Given the description of an element on the screen output the (x, y) to click on. 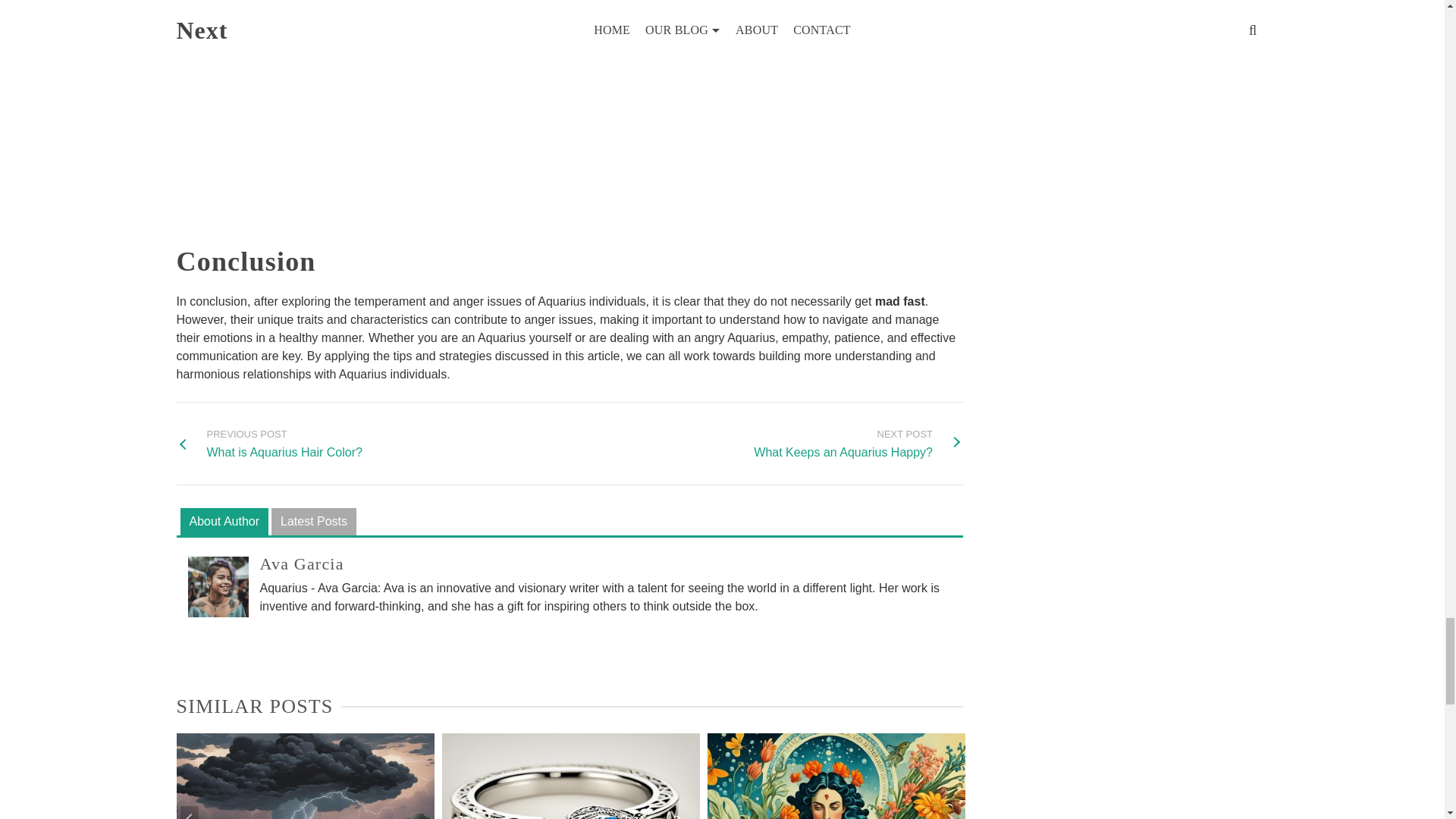
Ava Garcia (268, 443)
dealing with an angry Aquarius (301, 563)
About Author (858, 443)
Latest Posts (224, 522)
